Given the description of an element on the screen output the (x, y) to click on. 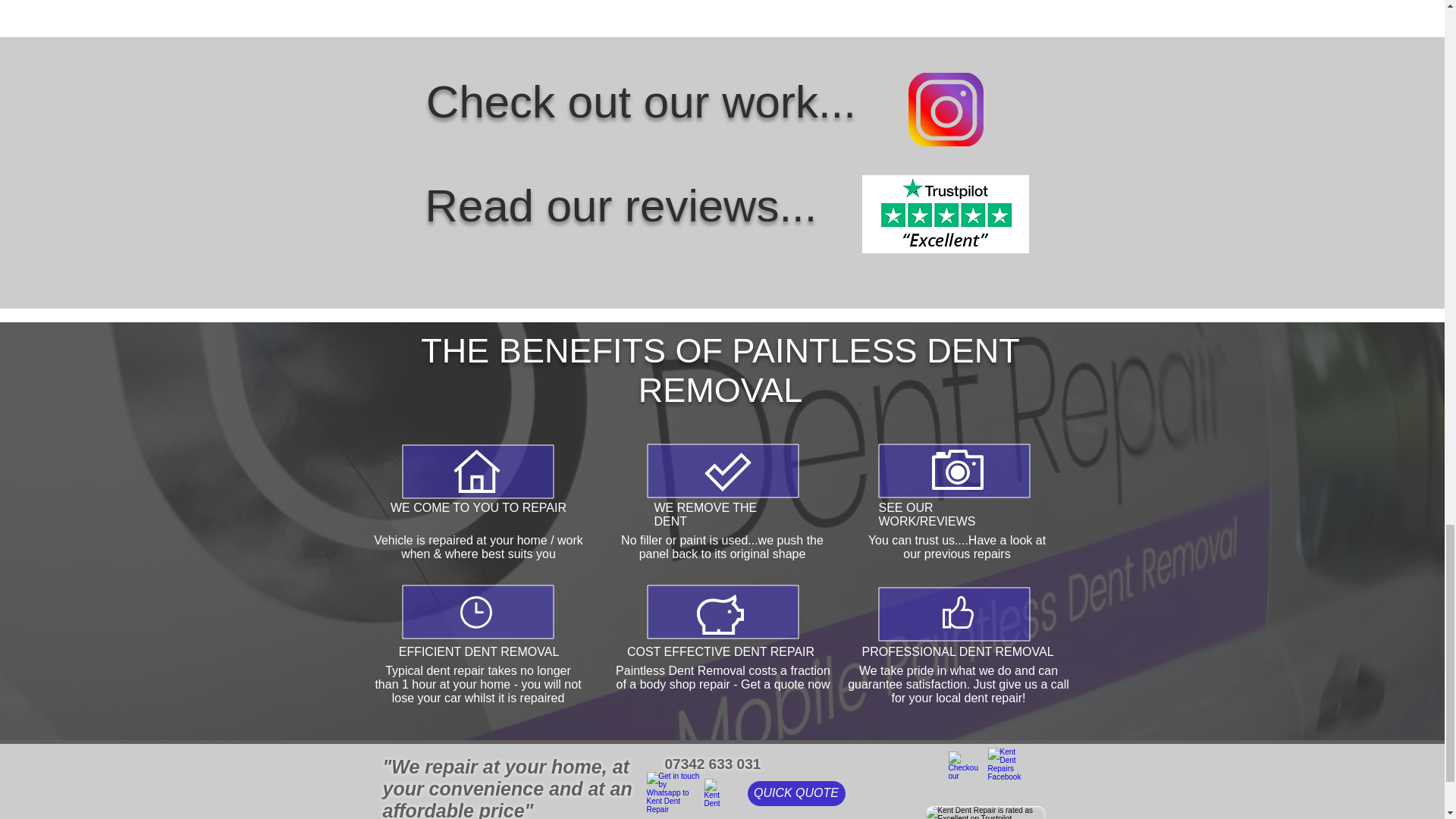
You can trust us....Have a look at our previous repairs (956, 546)
Click to check out our previous repairs (961, 765)
Get a quote now (785, 684)
Click to send us a message on Facebook Messenger (716, 792)
QUICK QUOTE (796, 793)
Clckto go to Kent Den Repairs Facebook Page (1005, 764)
Read our reviews... (620, 205)
Click to send Kent Dent Repair a WhatsApp message (672, 793)
Click to read our Excellent Trustpilot reviews (944, 214)
Click to see previous repairs (946, 109)
